Given the description of an element on the screen output the (x, y) to click on. 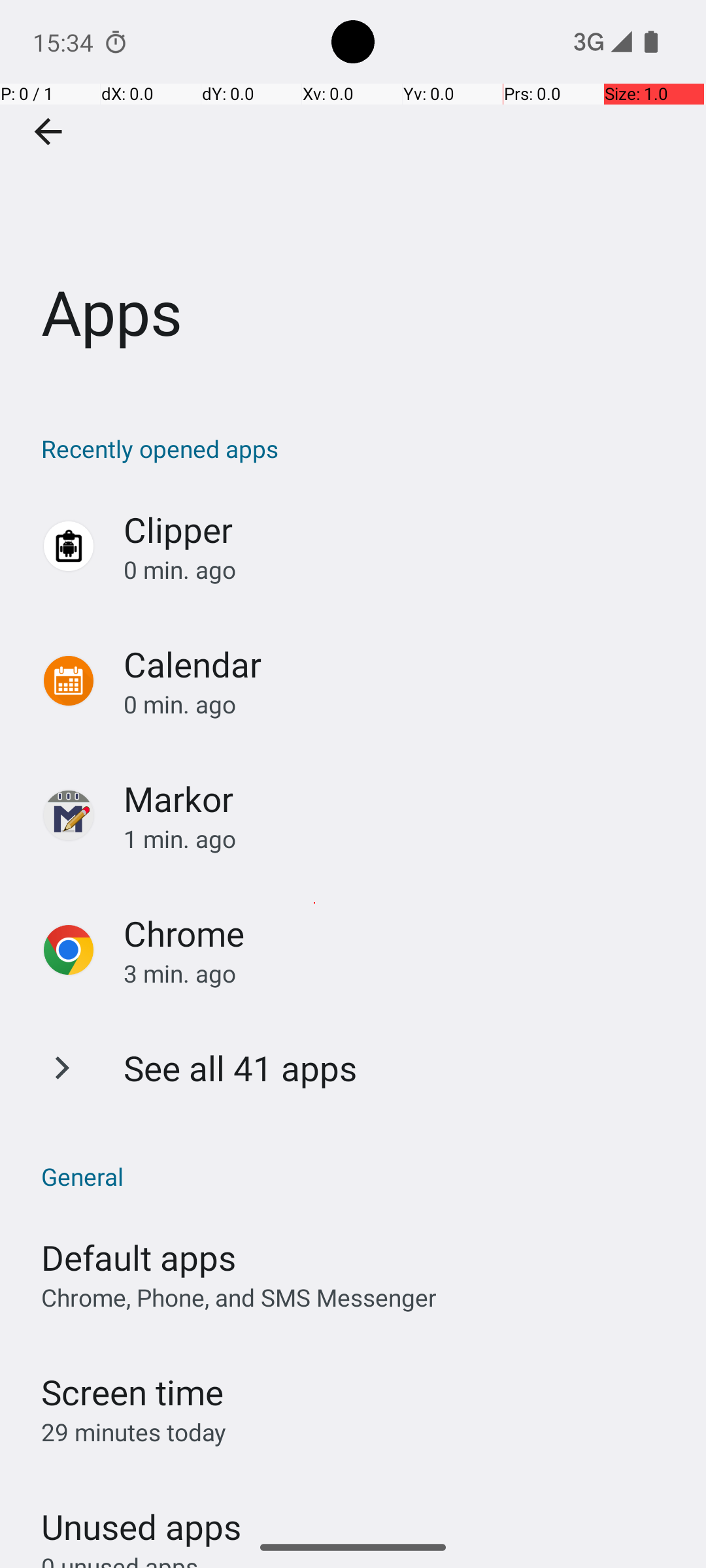
29 minutes today Element type: android.widget.TextView (133, 1431)
